Given the description of an element on the screen output the (x, y) to click on. 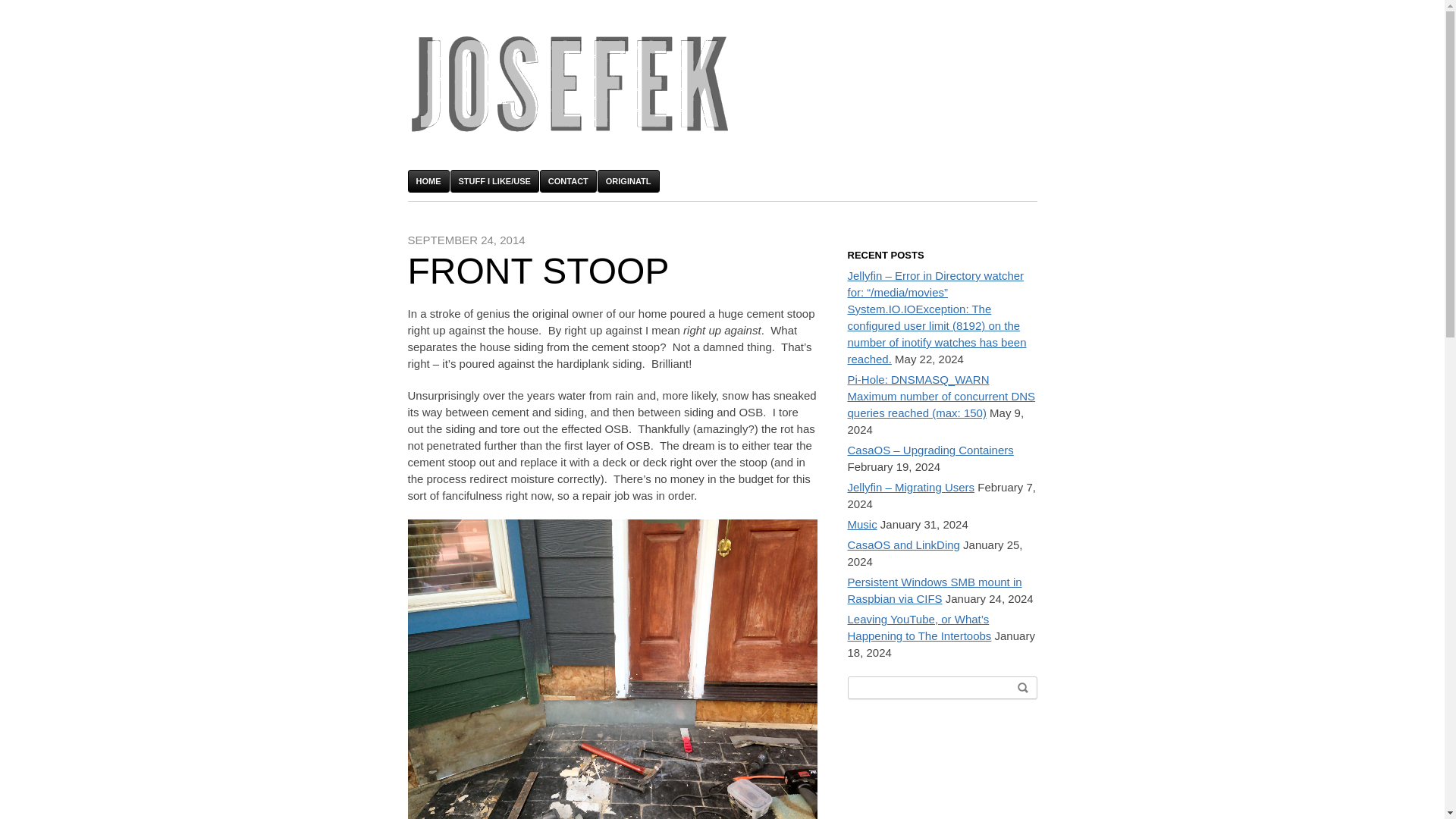
HOME (428, 180)
Music (862, 523)
ORIGINATL (627, 180)
Persistent Windows SMB mount in Raspbian via CIFS (934, 590)
CasaOS and LinkDing (903, 544)
CONTACT (568, 180)
